Given the description of an element on the screen output the (x, y) to click on. 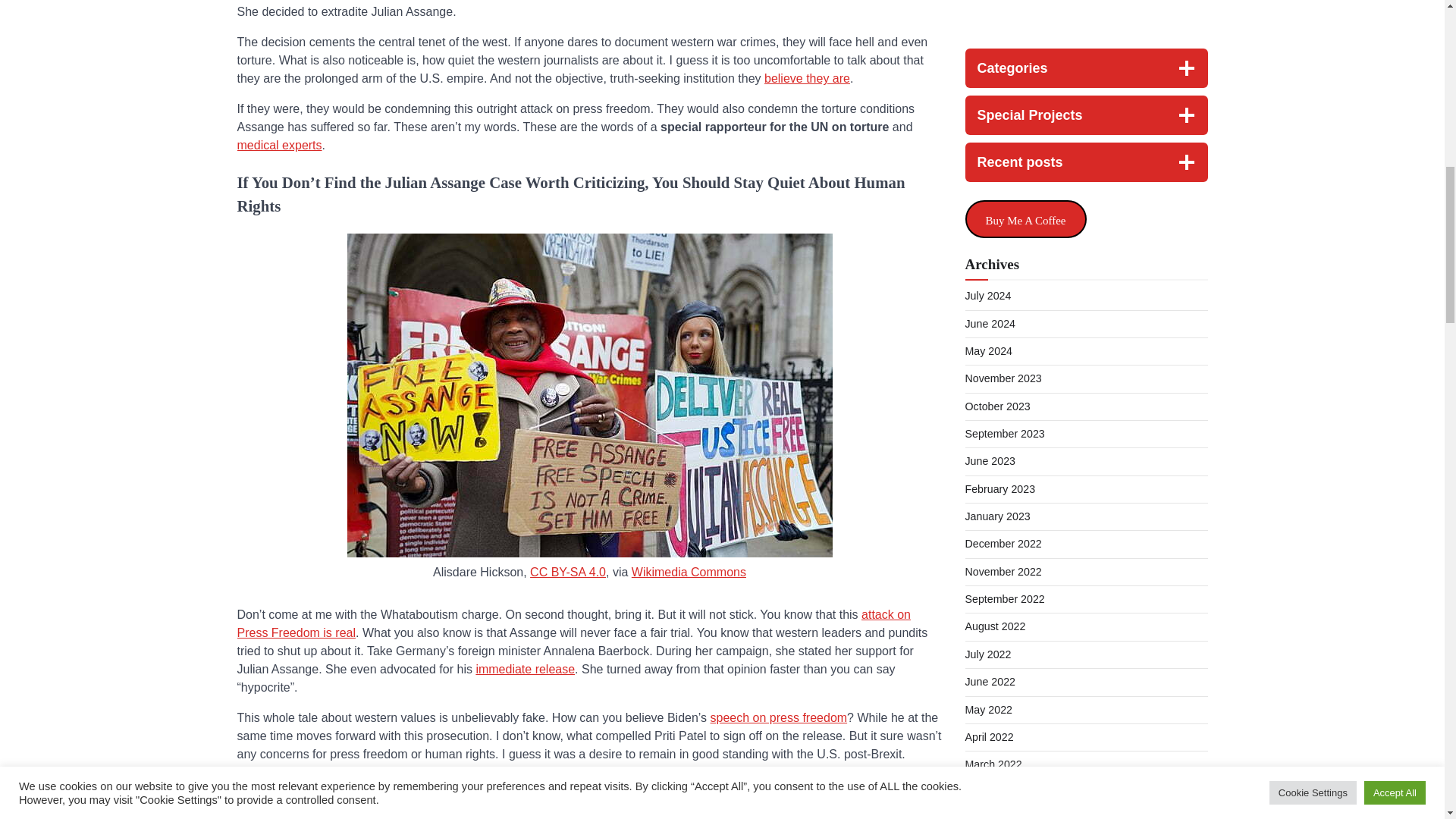
speech on press freedom (778, 717)
medical experts (278, 144)
Wikimedia Commons (688, 571)
immediate release (525, 668)
believe they are (807, 78)
CC BY-SA 4.0 (567, 571)
attack on Press Freedom is real (572, 623)
